Given the description of an element on the screen output the (x, y) to click on. 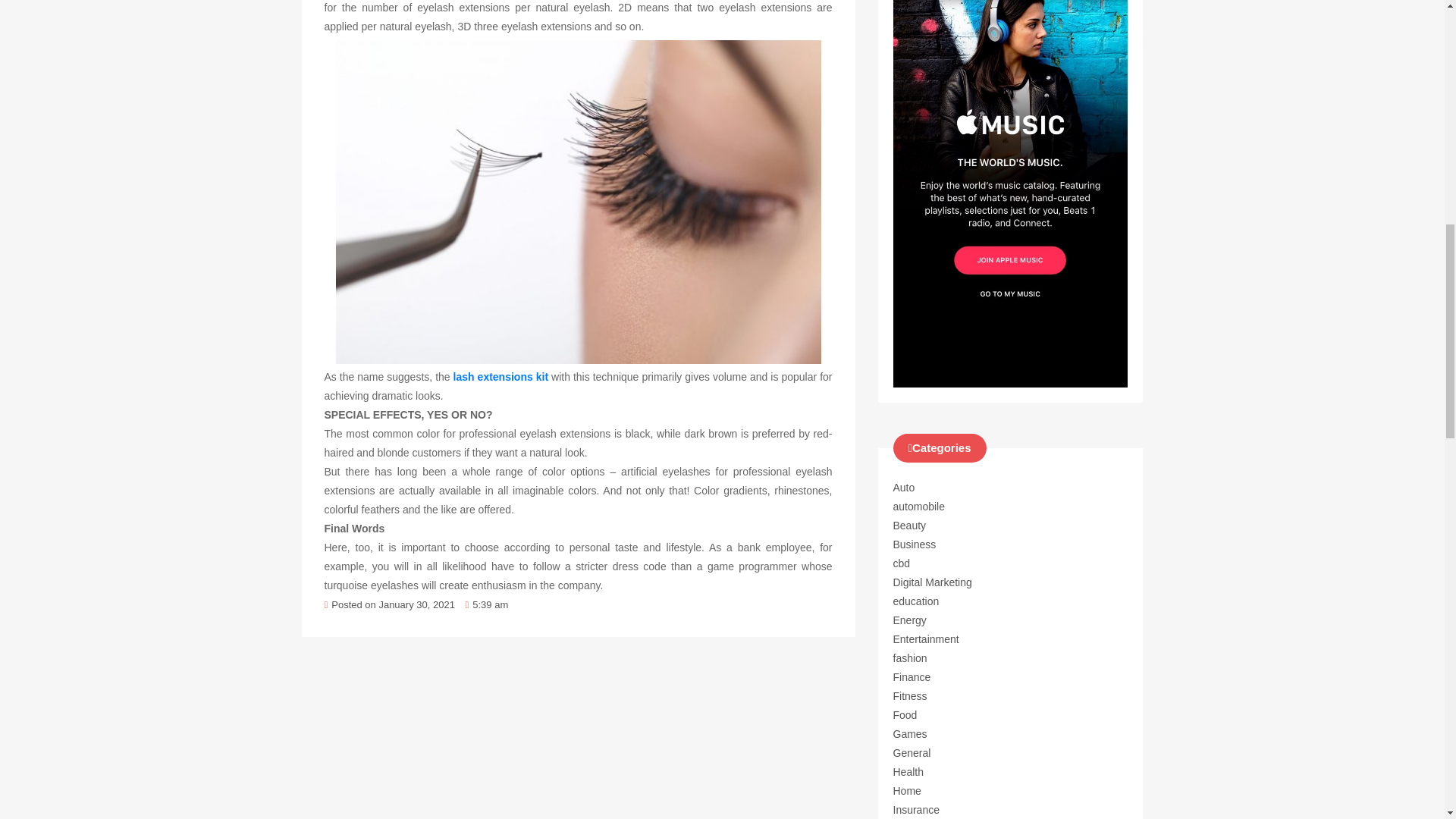
Finance (912, 676)
Fitness (910, 695)
Energy (909, 620)
lash extensions kit (500, 377)
fashion (910, 657)
Auto (904, 487)
Digital Marketing (932, 582)
Entertainment (926, 639)
education (916, 601)
Business (914, 544)
cbd (902, 563)
automobile (918, 506)
Beauty (909, 525)
Food (905, 715)
January 30, 2021 (416, 604)
